Given the description of an element on the screen output the (x, y) to click on. 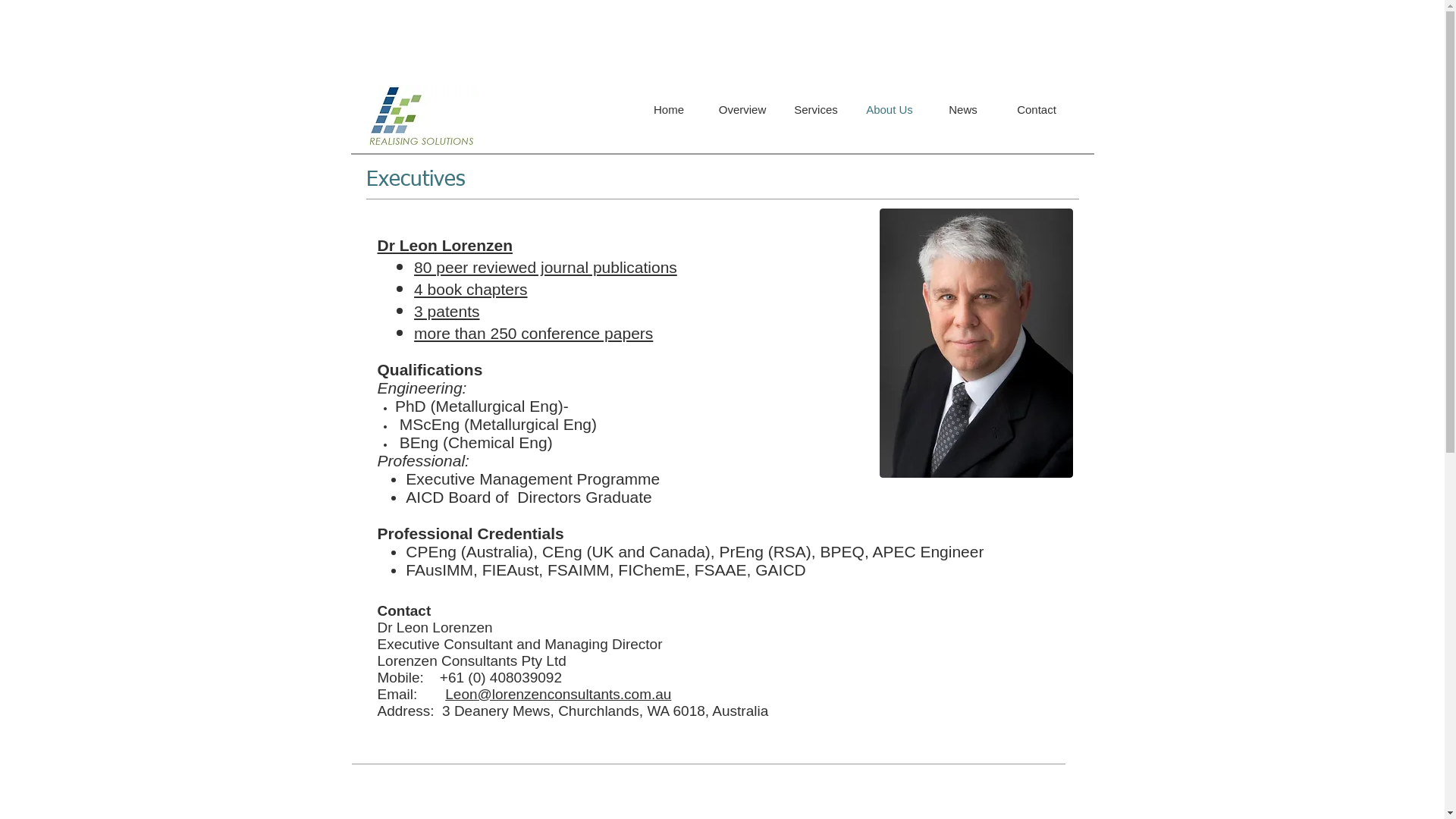
Home Element type: text (669, 109)
3 patents Element type: text (446, 311)
News Element type: text (963, 109)
Contact Element type: text (1036, 109)
more than 250 conference papers Element type: text (533, 333)
Services Element type: text (816, 109)
80 peer reviewed journal publications Element type: text (545, 267)
Overview Element type: text (741, 109)
Dr Leon Lorenzen Element type: text (445, 245)
4 book chapters Element type: text (470, 289)
Leon@lorenzenconsultants.com.au Element type: text (558, 694)
Resume Element type: hover (975, 342)
About Us Element type: text (888, 109)
